Given the description of an element on the screen output the (x, y) to click on. 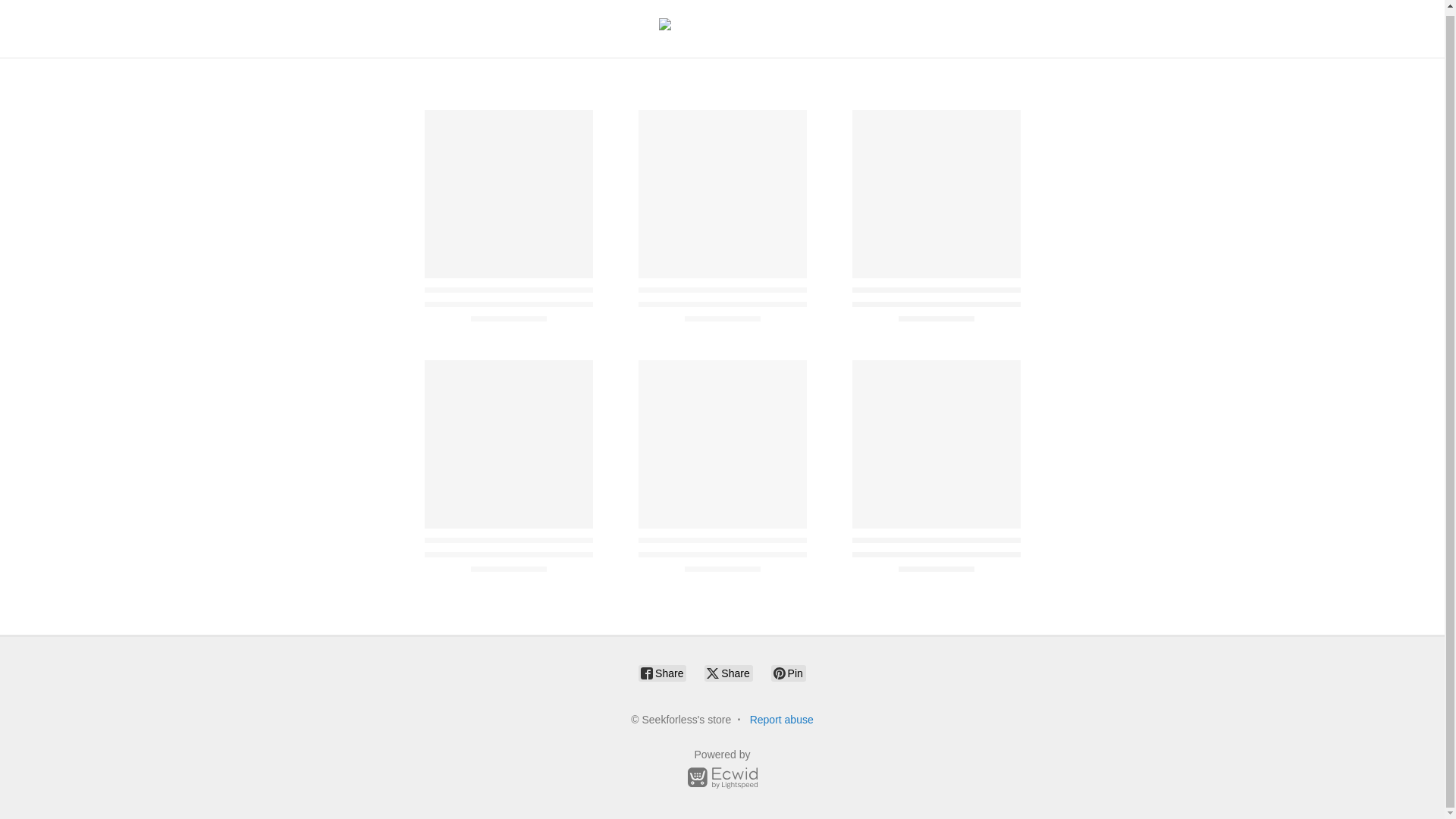
Share (662, 673)
Powered by (722, 771)
Share (728, 673)
Report abuse (781, 719)
Pin (788, 673)
